Given the description of an element on the screen output the (x, y) to click on. 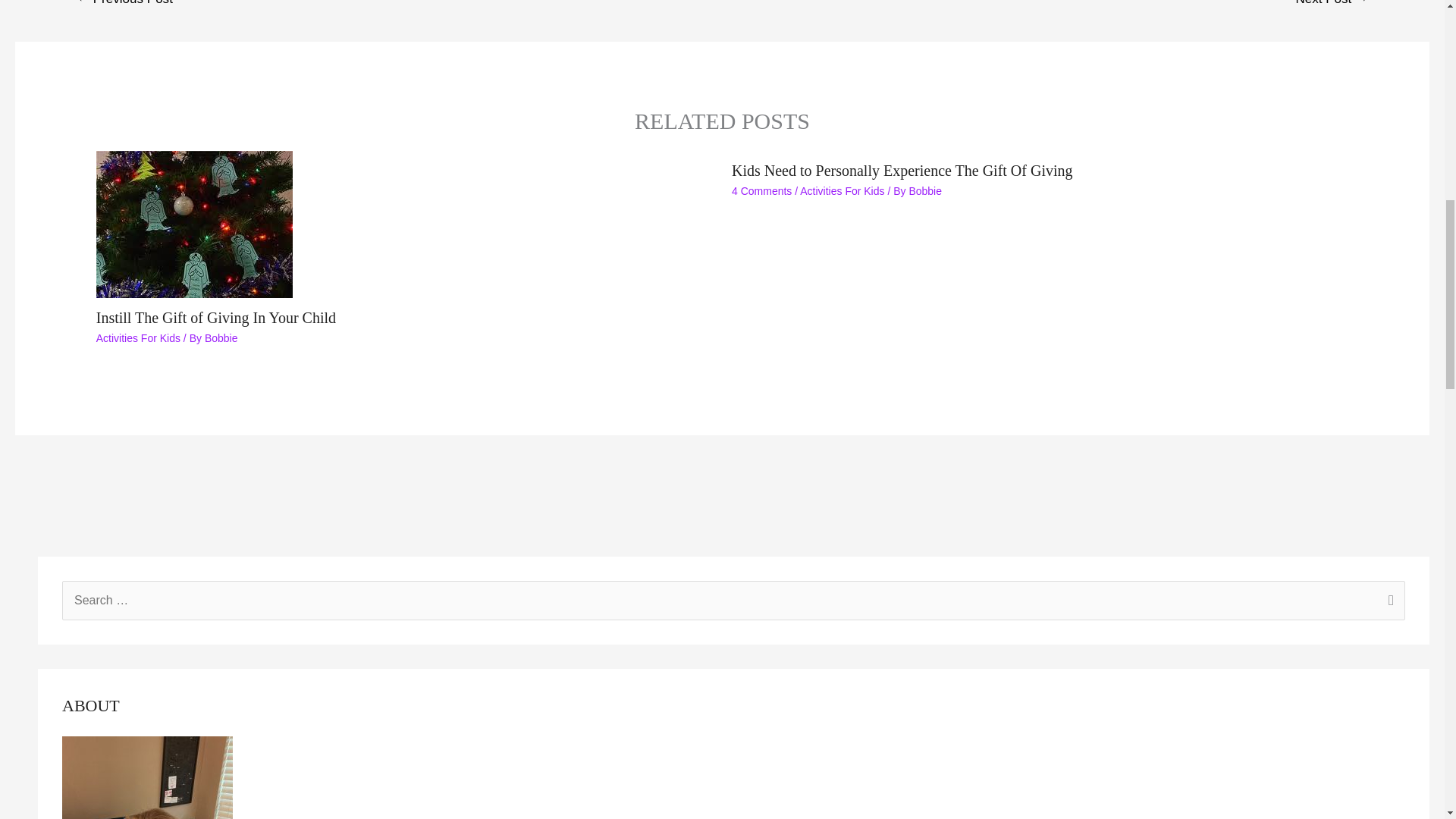
Search (1388, 601)
Search (1388, 601)
Activities For Kids (841, 191)
Kids Need to Personally Experience The Gift Of Giving (902, 170)
View all posts by Bobbie (221, 337)
Search (1388, 601)
Activities For Kids (138, 337)
4 Comments (762, 191)
Bobbie (221, 337)
Instill The Gift of Giving In Your Child (216, 317)
View all posts by Bobbie (925, 191)
Bobbie (925, 191)
